Given the description of an element on the screen output the (x, y) to click on. 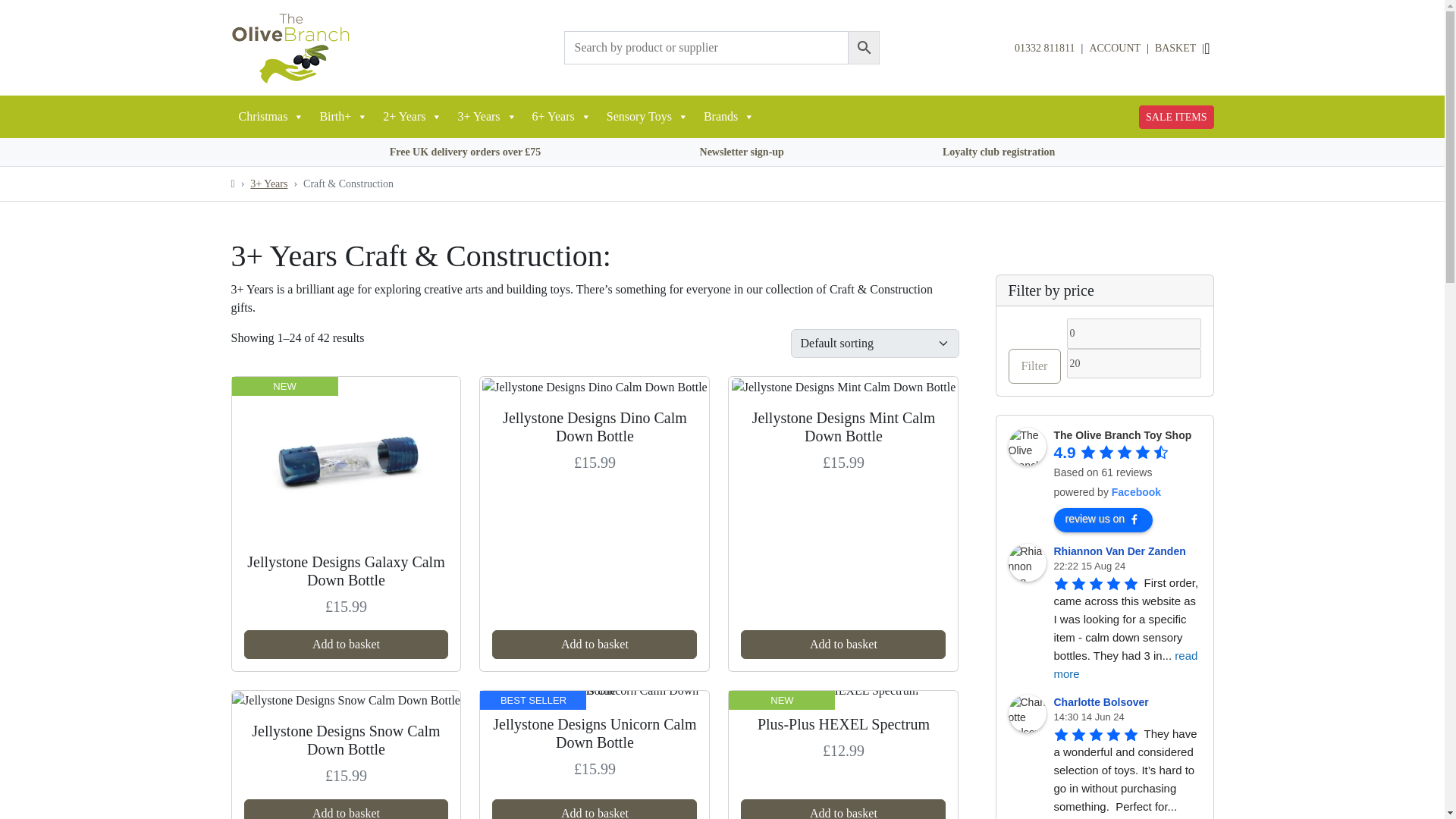
Charlotte Bolsover (1027, 713)
20 (1132, 363)
0 (1132, 333)
ACCOUNT (1114, 48)
Rhiannon Van Der Zanden (1027, 562)
BASKET (1174, 48)
The Olive Branch Toy Shop (1027, 446)
01332 811811 (1044, 48)
Christmas (270, 116)
